Given the description of an element on the screen output the (x, y) to click on. 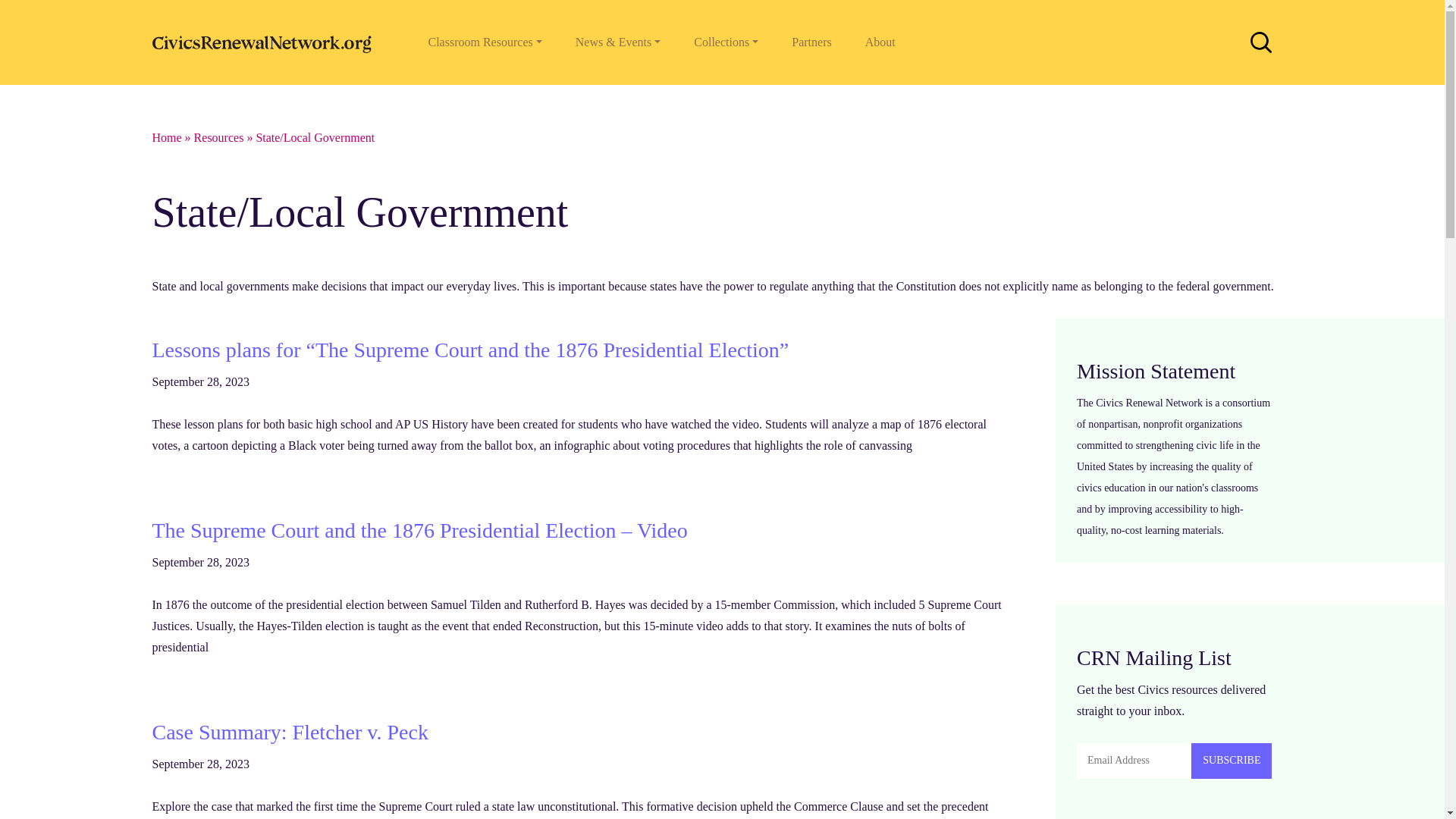
CivicsRenewalNetwork.org (264, 41)
Classroom Resources (484, 42)
Subscribe (1231, 760)
